Given the description of an element on the screen output the (x, y) to click on. 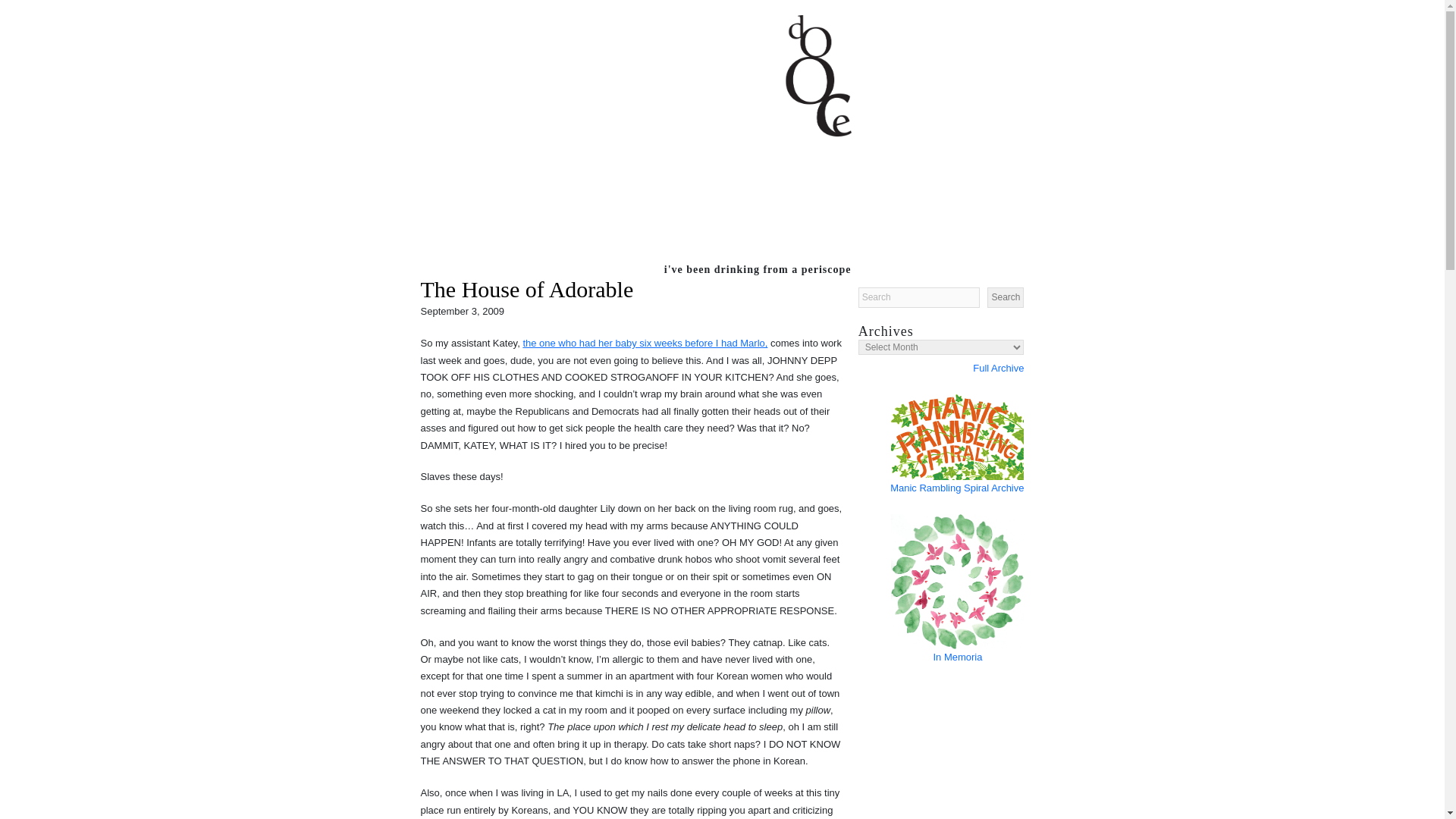
Manic Rambling Spiral podcast (957, 436)
In Memoria (942, 657)
Manic Rambling Spiral Archive (956, 487)
The House of Adorable (526, 289)
the one who had her baby six weeks before I had Marlo, (644, 342)
Search (1005, 297)
Full Archive (942, 368)
The House of Adorable (526, 289)
